Given the description of an element on the screen output the (x, y) to click on. 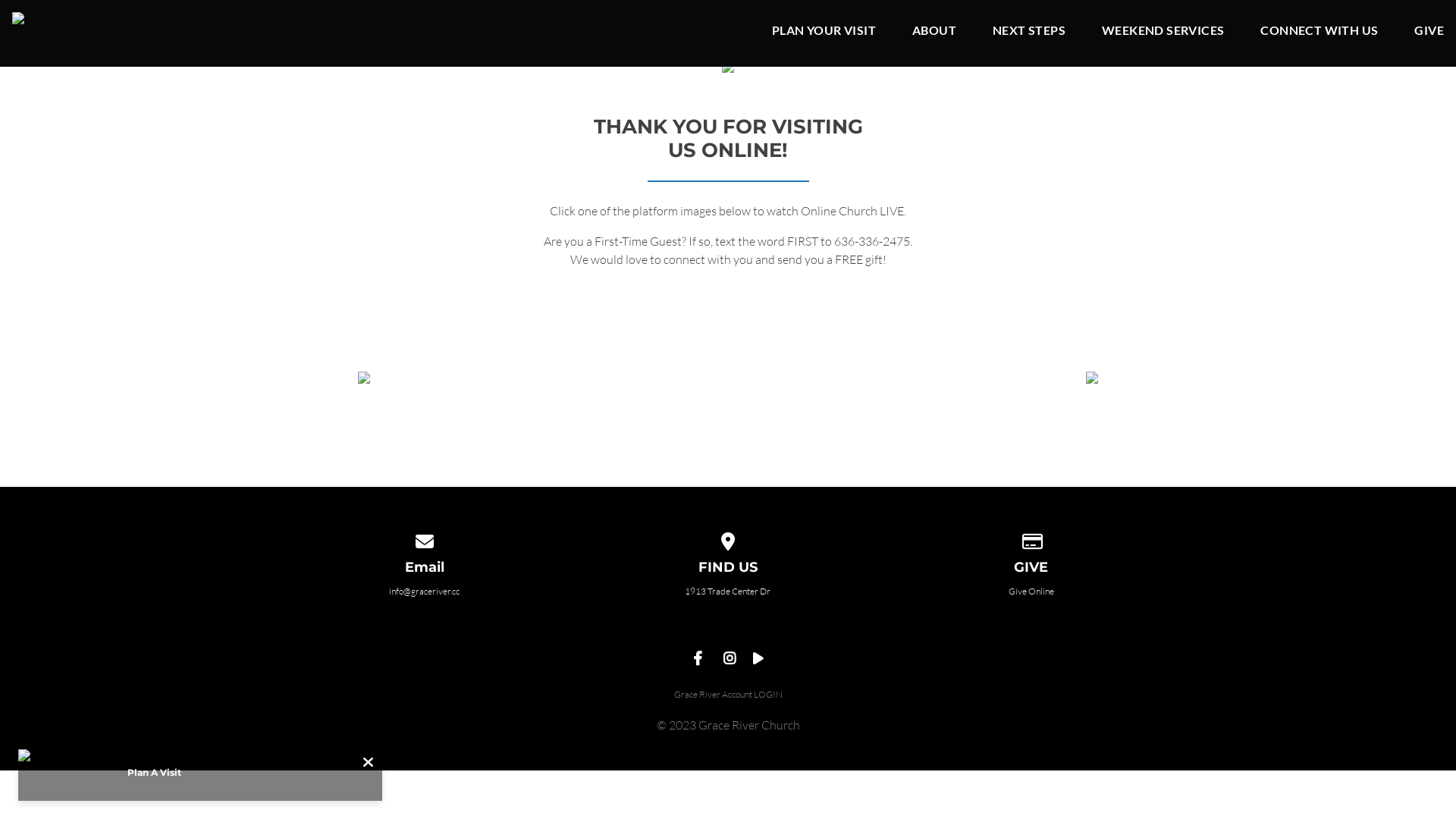
info@graceriver.cc Element type: text (424, 590)
GIVE Element type: text (1428, 33)
1913 Trade Center Dr Element type: text (727, 590)
WEEKEND SERVICES Element type: text (1162, 33)
CONNECT WITH US Element type: text (1318, 33)
NEXT STEPS Element type: text (1028, 33)
Grace River Account LOGIN Element type: text (727, 694)
Give Online Element type: text (1031, 590)
PLAN YOUR VISIT Element type: text (823, 33)
ABOUT Element type: text (934, 33)
